Given the description of an element on the screen output the (x, y) to click on. 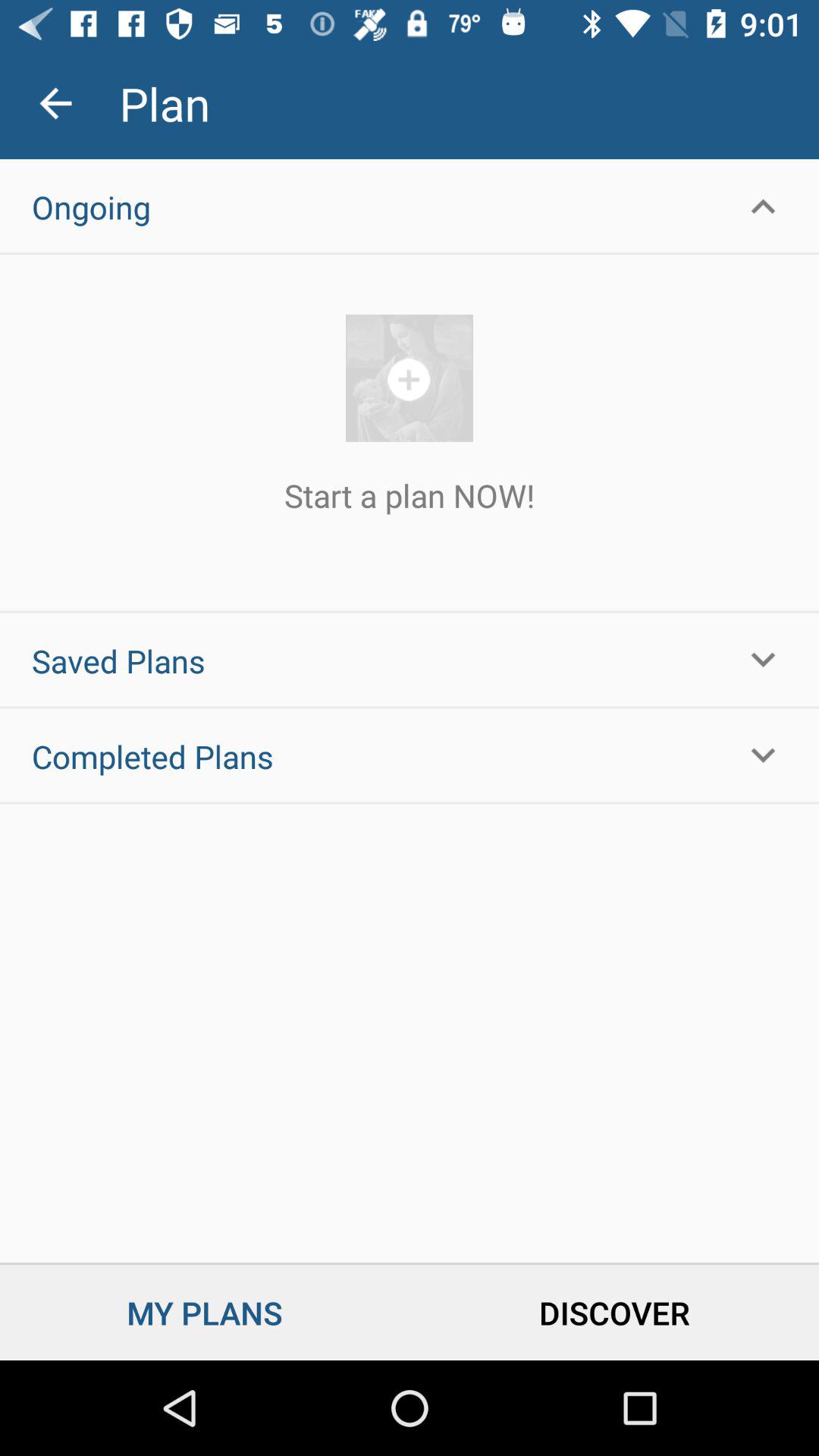
start plan (409, 377)
